Given the description of an element on the screen output the (x, y) to click on. 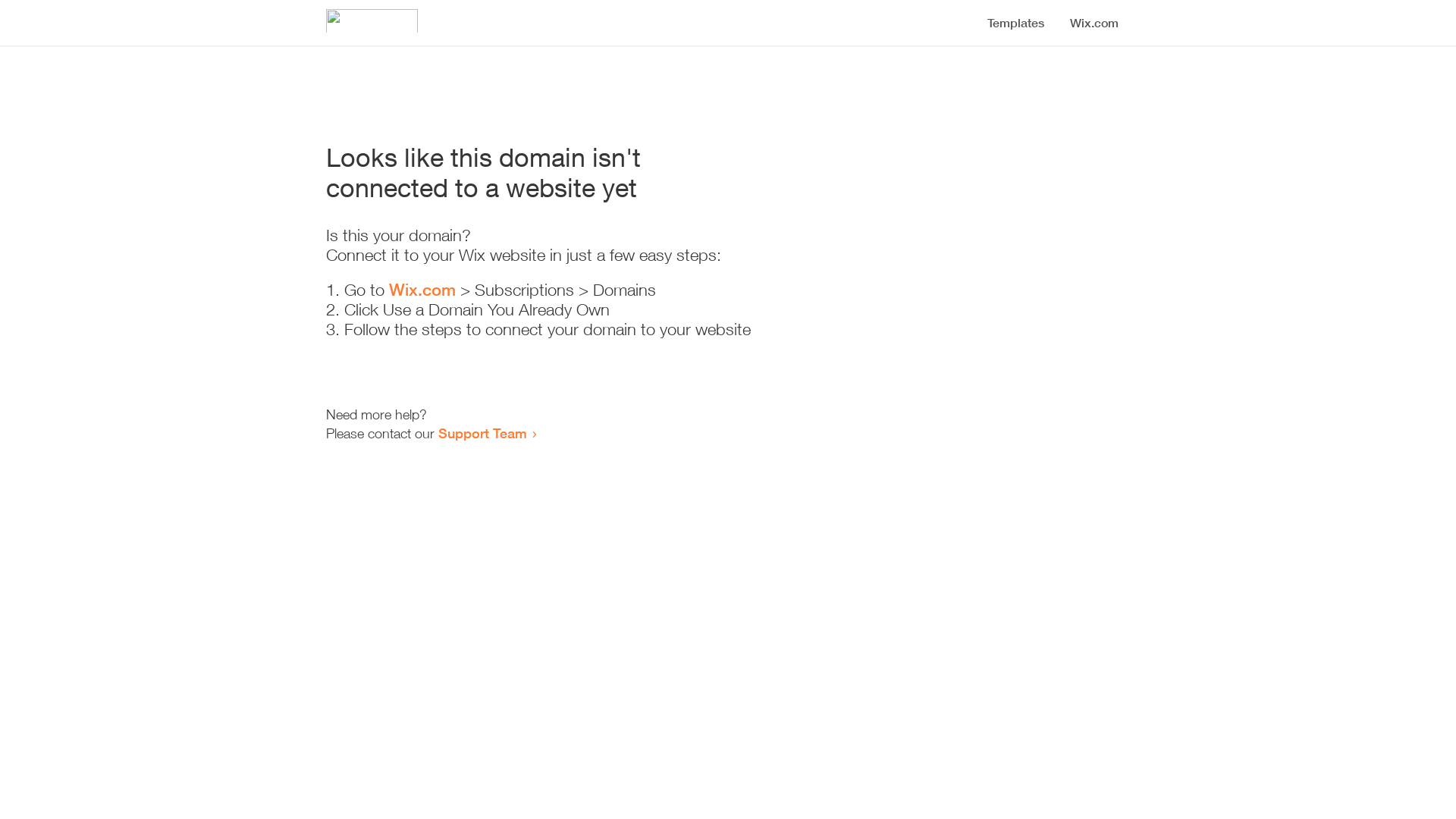
Support Team Element type: text (482, 432)
Wix.com Element type: text (422, 289)
